Given the description of an element on the screen output the (x, y) to click on. 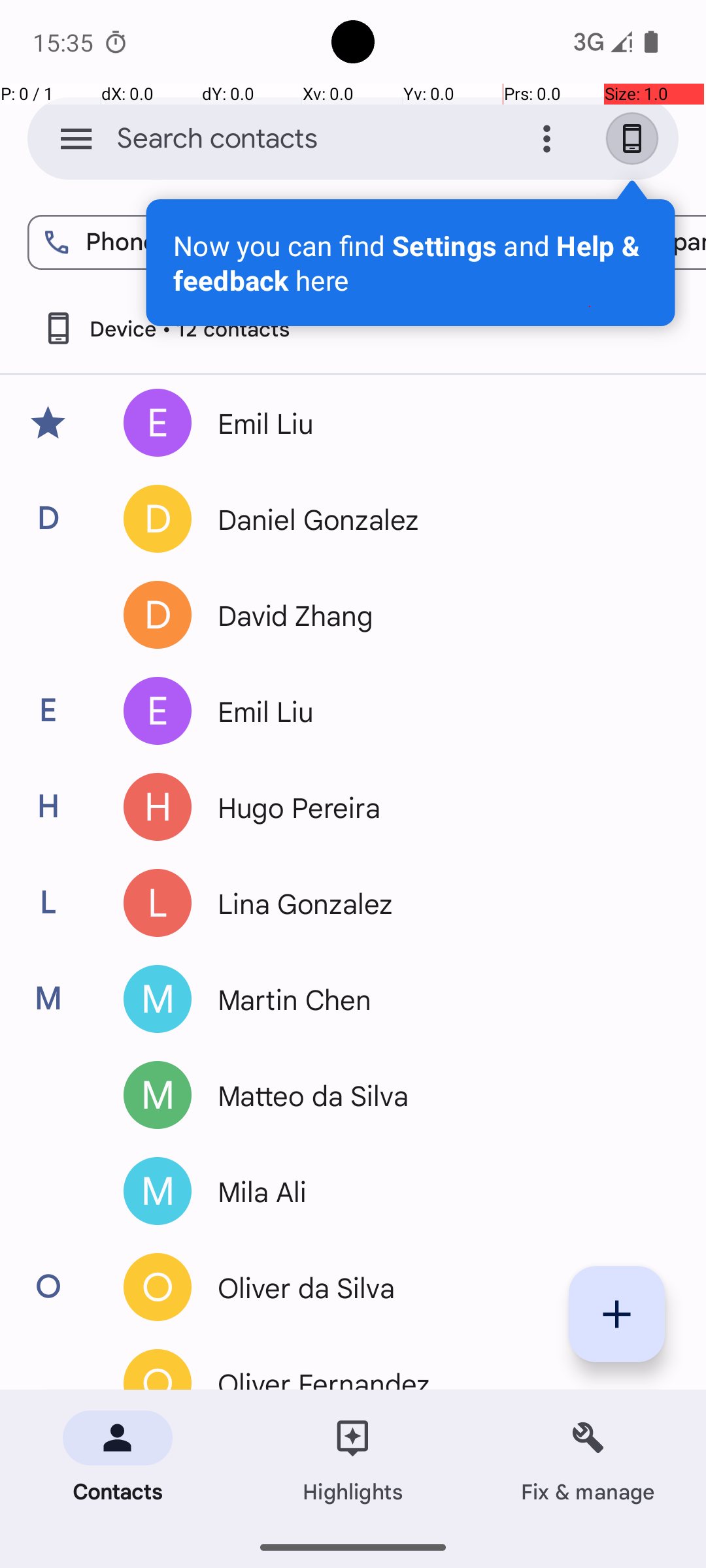
Device • 12 contacts Element type: android.widget.TextView (165, 328)
Emil Liu Element type: android.widget.TextView (434, 422)
Daniel Gonzalez Element type: android.widget.TextView (434, 518)
David Zhang Element type: android.widget.TextView (434, 614)
Lina Gonzalez Element type: android.widget.TextView (434, 902)
Martin Chen Element type: android.widget.TextView (434, 998)
Matteo da Silva Element type: android.widget.TextView (434, 1094)
Mila Ali Element type: android.widget.TextView (434, 1190)
Oliver da Silva Element type: android.widget.TextView (434, 1286)
Oliver Fernandez Element type: android.widget.TextView (434, 1376)
